Given the description of an element on the screen output the (x, y) to click on. 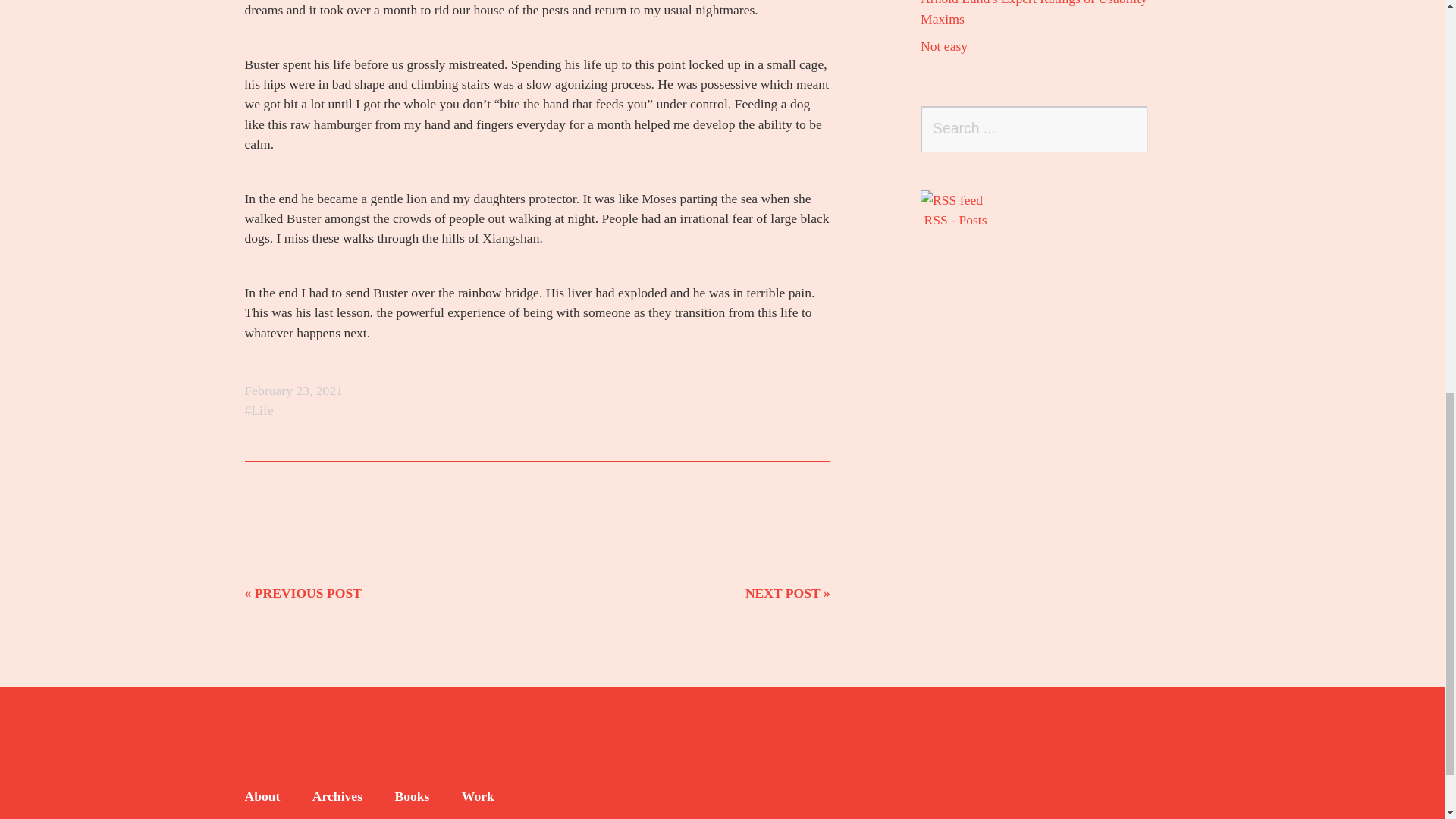
 RSS - Posts (1056, 208)
Work (478, 795)
Arnold Lund's Expert Ratings of Usability Maxims (1033, 12)
About (261, 795)
Not easy (944, 46)
Archives (337, 795)
Books (411, 795)
Search (1126, 129)
February 23, 2021 (293, 390)
Search (1126, 129)
modafinil200mg.net (301, 776)
Subscribe to posts (1056, 208)
Life (258, 409)
